Given the description of an element on the screen output the (x, y) to click on. 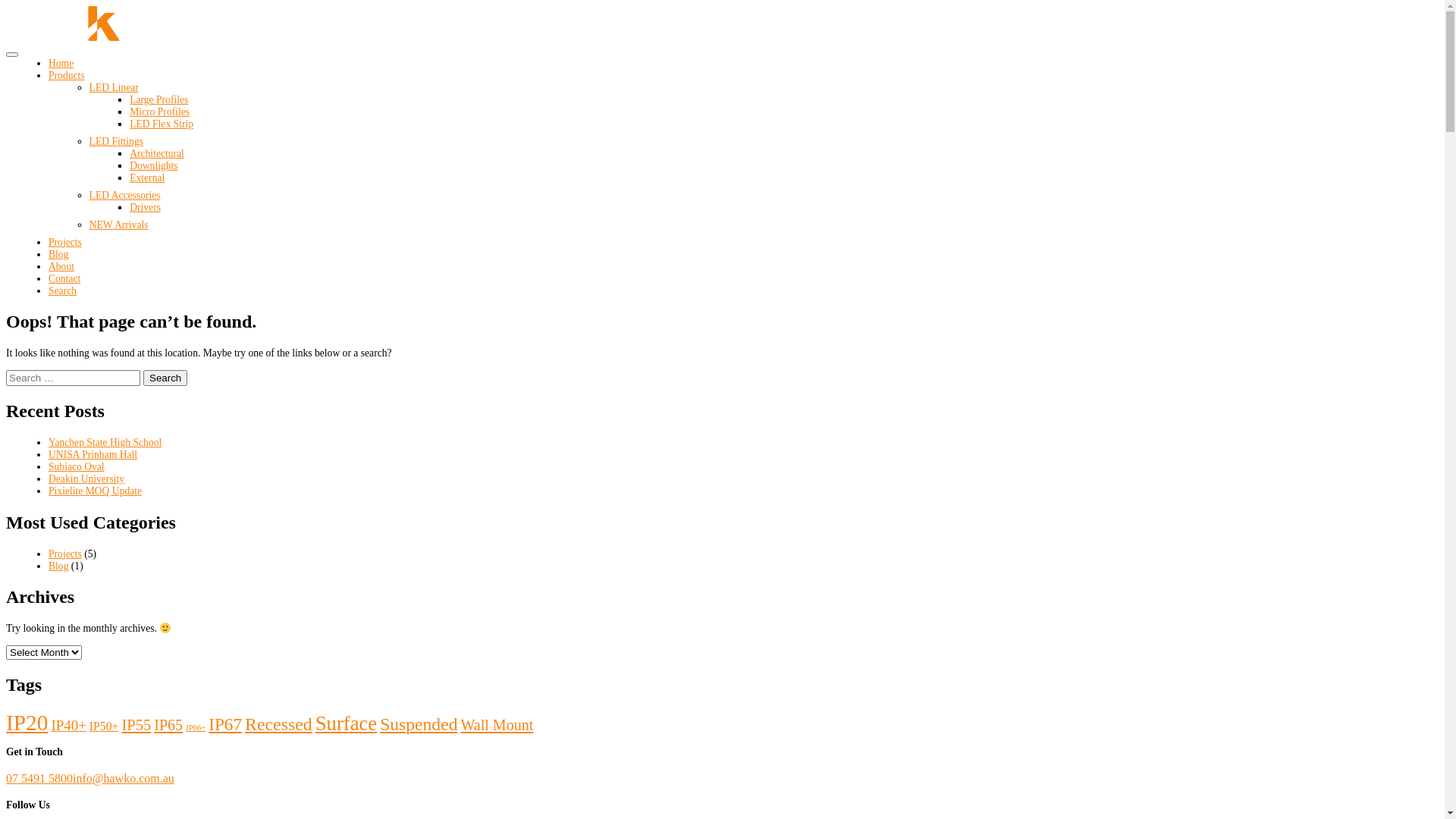
Blog Element type: text (58, 565)
Search Element type: text (62, 290)
Subiaco Oval Element type: text (76, 466)
Search Element type: text (165, 377)
Large Profiles Element type: text (158, 99)
IP66+ Element type: text (195, 727)
Suspended Element type: text (418, 724)
IP67 Element type: text (224, 724)
Home Element type: text (60, 63)
Architectural Element type: text (156, 153)
07 5491 5800 Element type: text (39, 778)
Surface Element type: text (345, 723)
External Element type: text (146, 177)
IP50+ Element type: text (104, 725)
Drivers Element type: text (144, 207)
IP65 Element type: text (167, 724)
Projects Element type: text (64, 241)
LED Accessories Element type: text (124, 194)
About Element type: text (61, 266)
Recessed Element type: text (278, 724)
Deakin University Element type: text (86, 478)
info@hawko.com.au Element type: text (123, 778)
LED Linear Element type: text (113, 87)
UNISA Prinham Hall Element type: text (92, 454)
Yanchep State High School Element type: text (104, 442)
Projects Element type: text (64, 553)
IP20 Element type: text (26, 722)
Downlights Element type: text (153, 165)
Products Element type: text (66, 75)
Skip to content Element type: text (5, 5)
LED Fittings Element type: text (116, 141)
Micro Profiles Element type: text (159, 111)
Pixielite MOQ Update Element type: text (94, 490)
NEW Arrivals Element type: text (118, 224)
IP55 Element type: text (135, 724)
Blog Element type: text (58, 254)
IP40+ Element type: text (67, 725)
Wall Mount Element type: text (496, 724)
Contact Element type: text (64, 278)
LED Flex Strip Element type: text (161, 123)
